Given the description of an element on the screen output the (x, y) to click on. 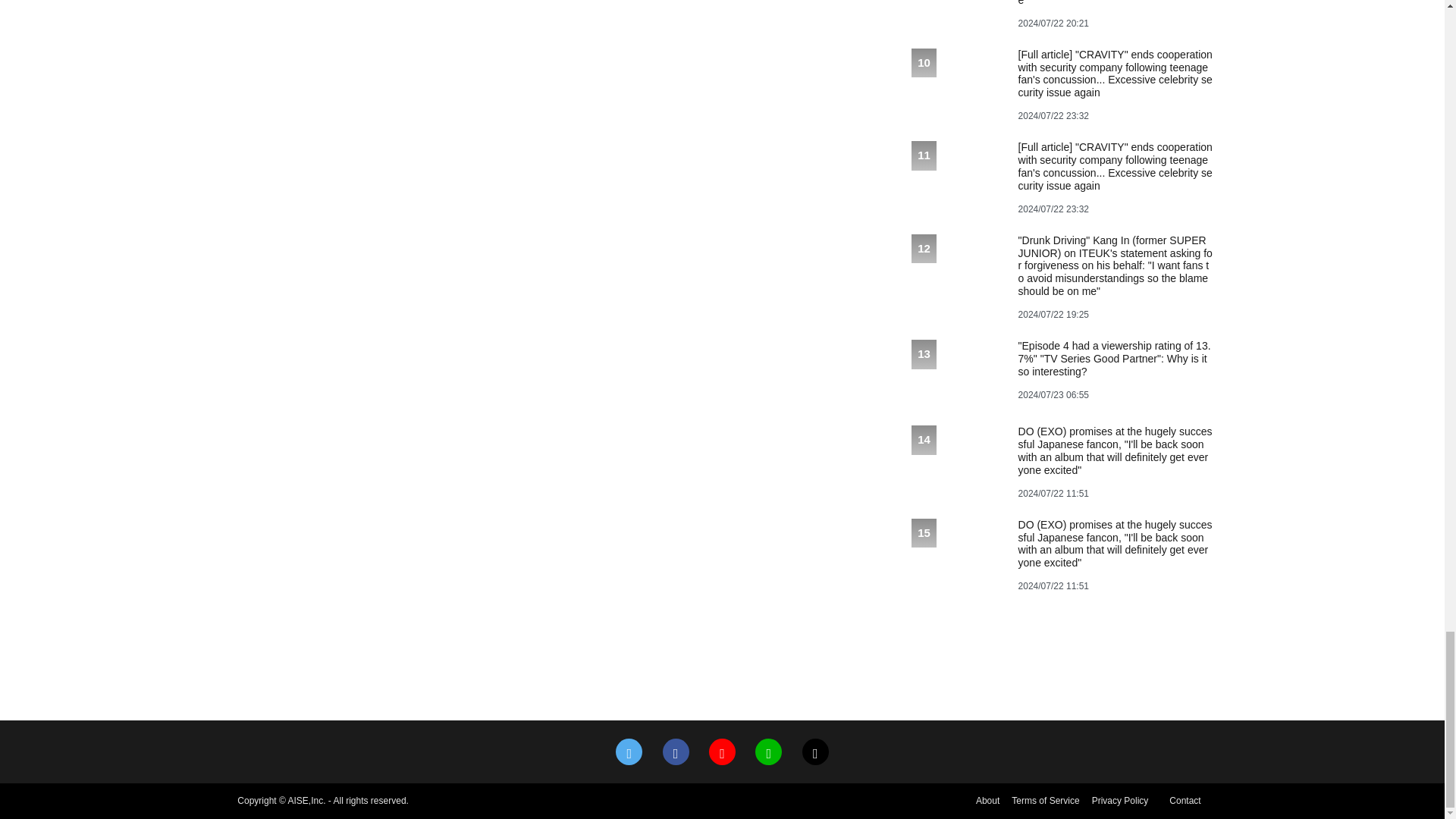
wowkorea twitter (628, 751)
wowkorea youtube (722, 751)
wowkorea facebook (675, 751)
